Given the description of an element on the screen output the (x, y) to click on. 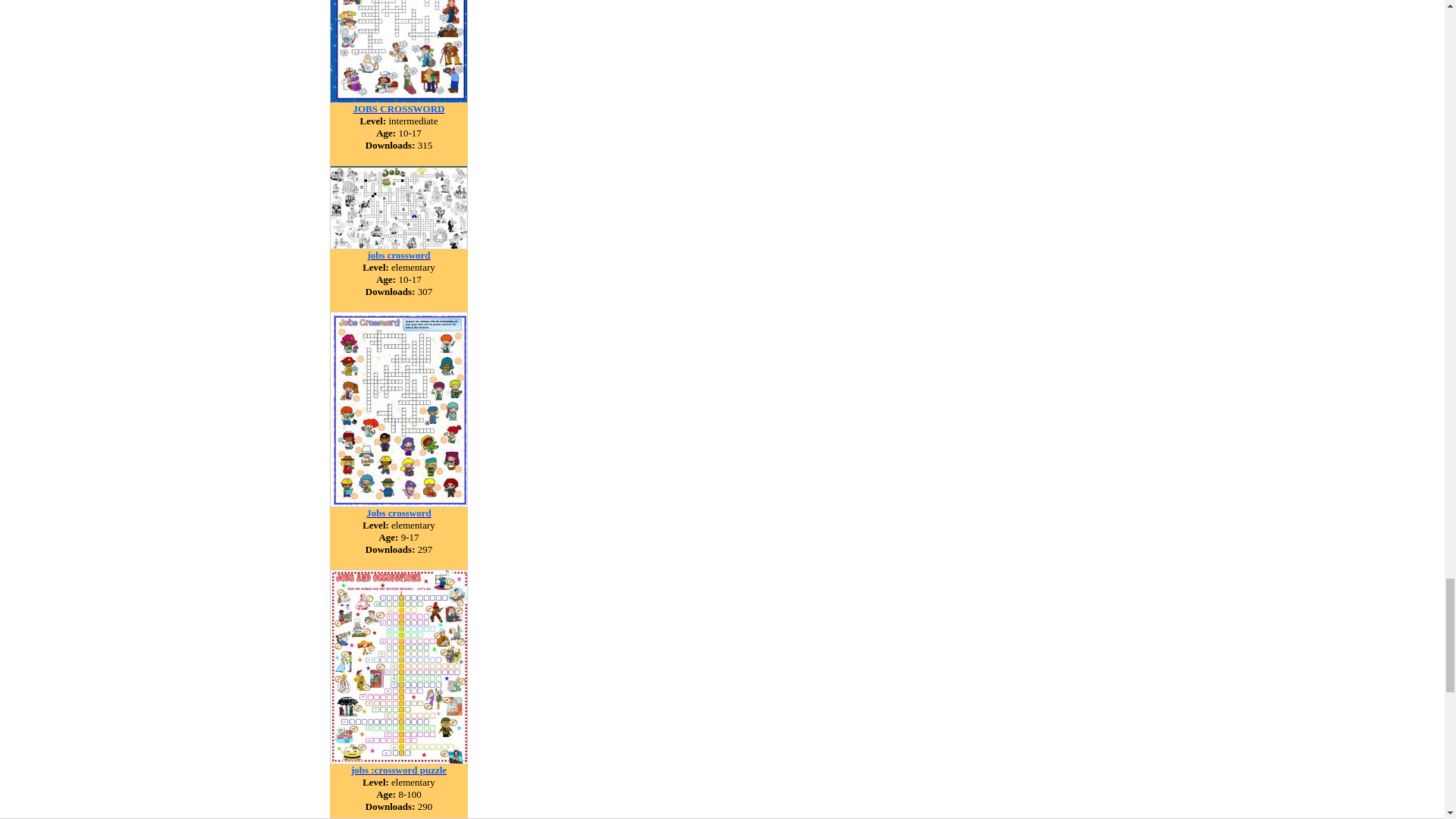
JOBS CROSSWORD (399, 107)
jobs crossword (397, 254)
jobs :crossword puzzle (398, 768)
Jobs crossword (398, 512)
